Given the description of an element on the screen output the (x, y) to click on. 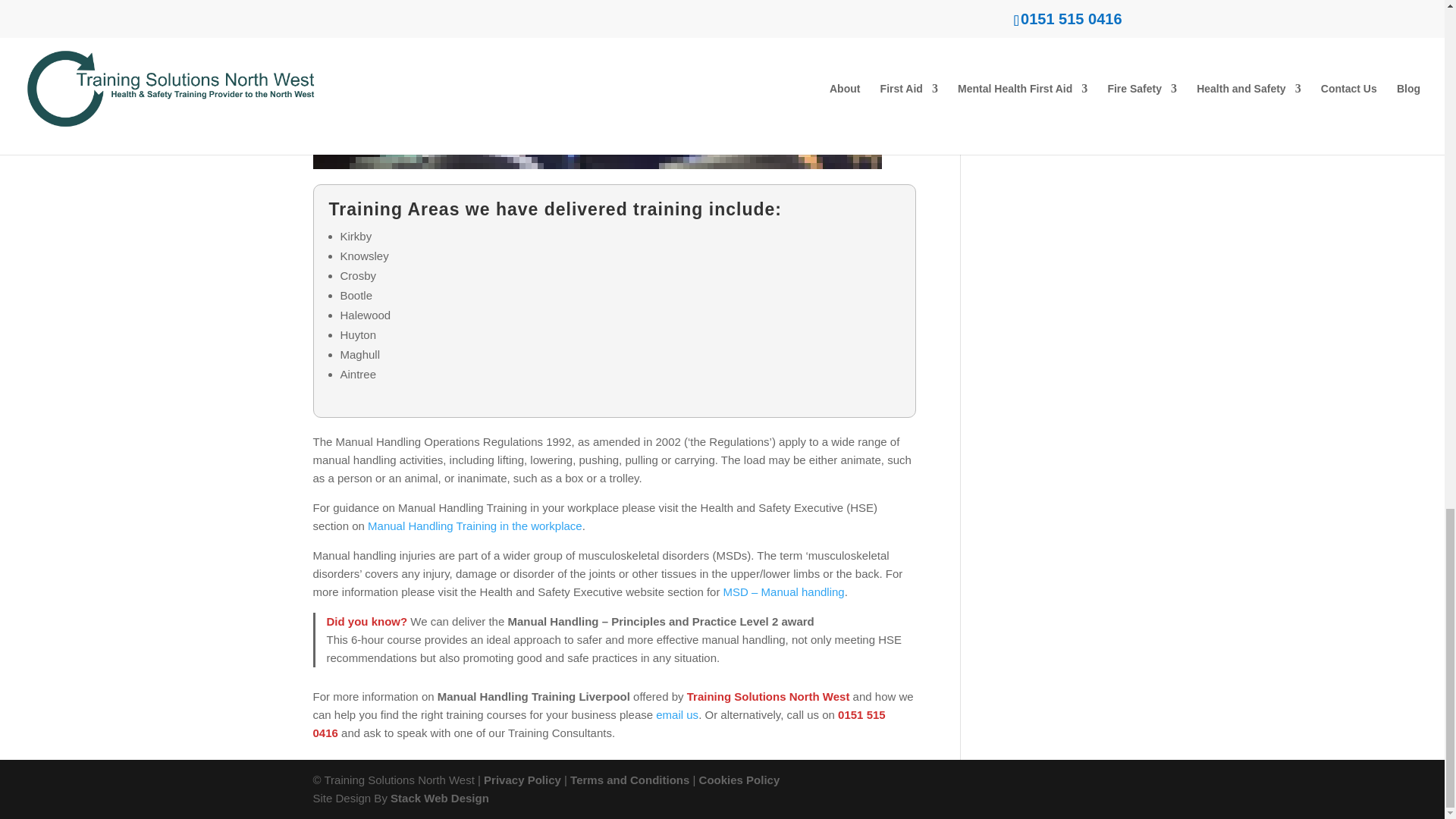
Privacy Policy (521, 779)
Cookies Policy (739, 779)
Terms and Conditions (629, 779)
